Given the description of an element on the screen output the (x, y) to click on. 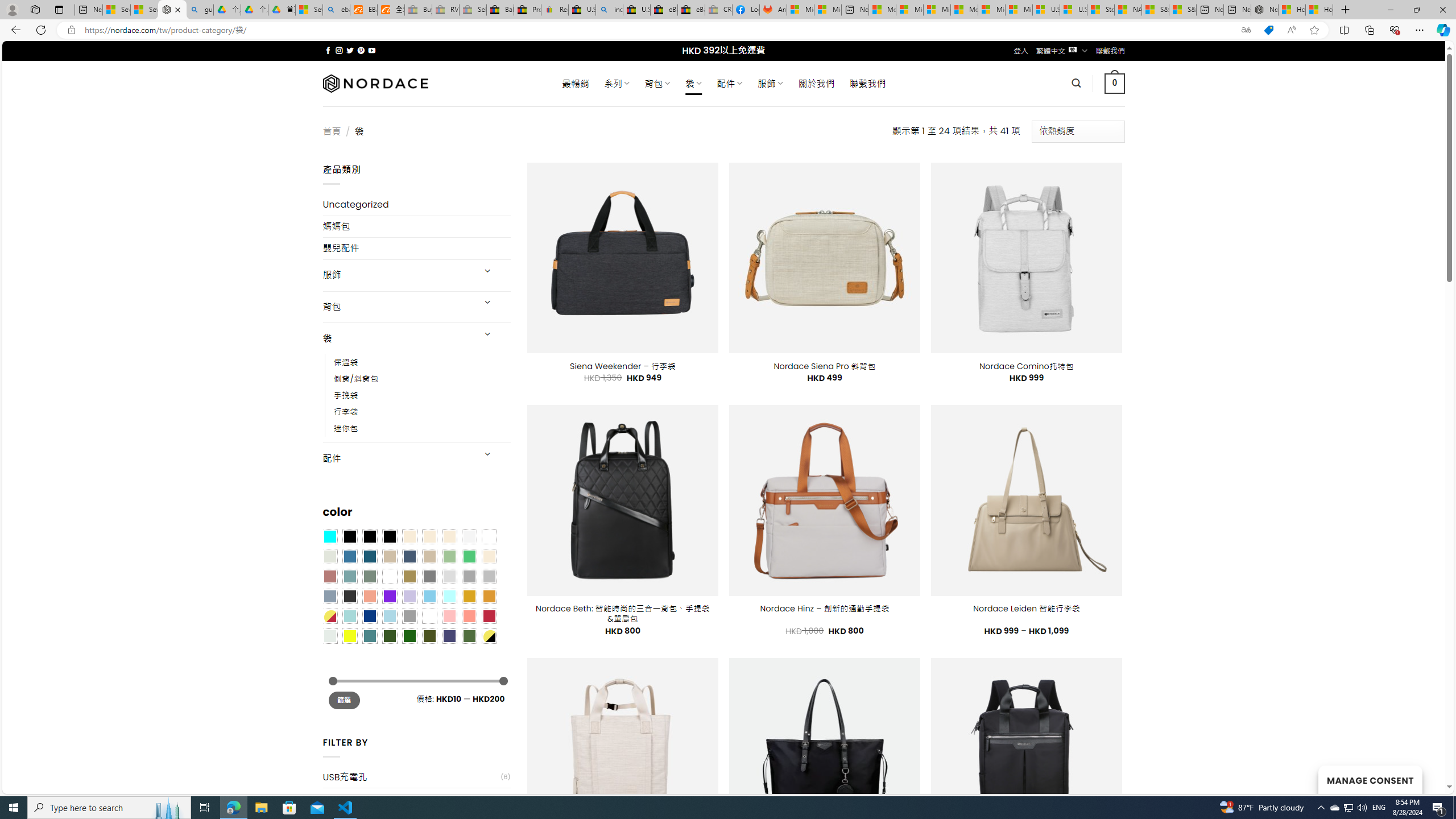
Buy Auto Parts & Accessories | eBay - Sleeping (418, 9)
Microsoft account | Home (936, 9)
